Given the description of an element on the screen output the (x, y) to click on. 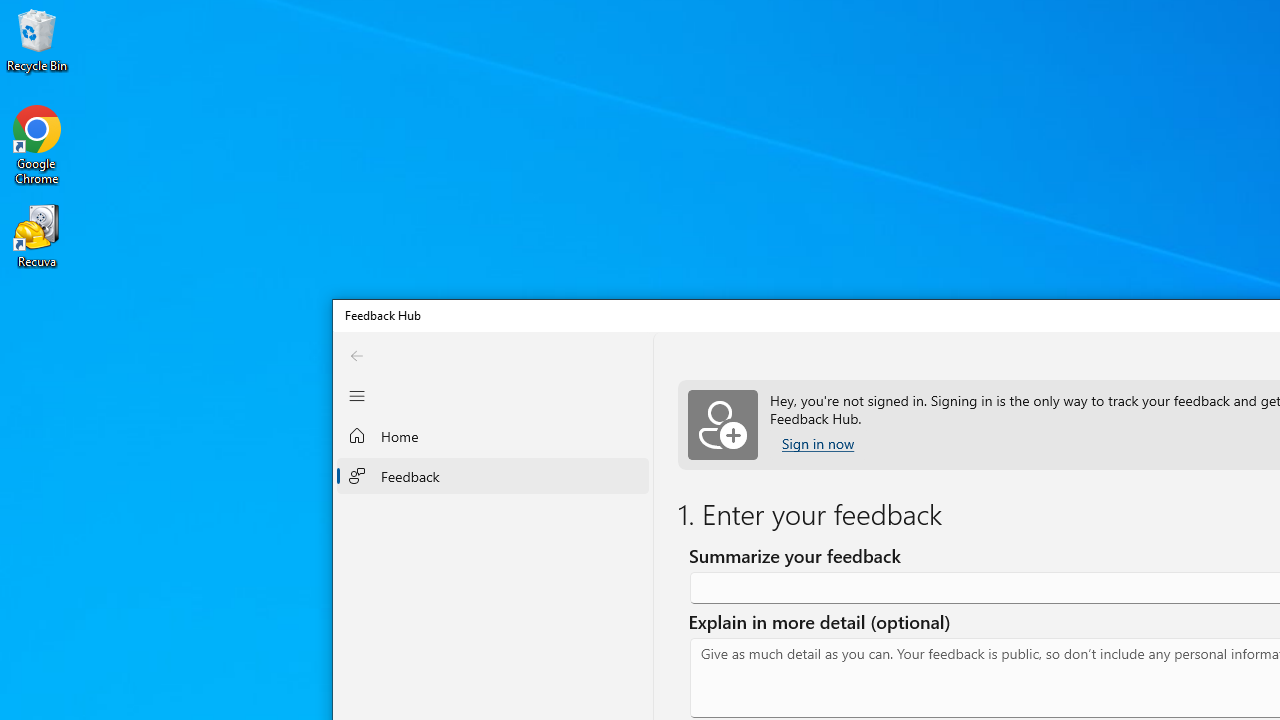
Feedback (492, 475)
Close Navigation (356, 395)
Home (492, 436)
Back (356, 355)
Sign in now (818, 443)
